Given the description of an element on the screen output the (x, y) to click on. 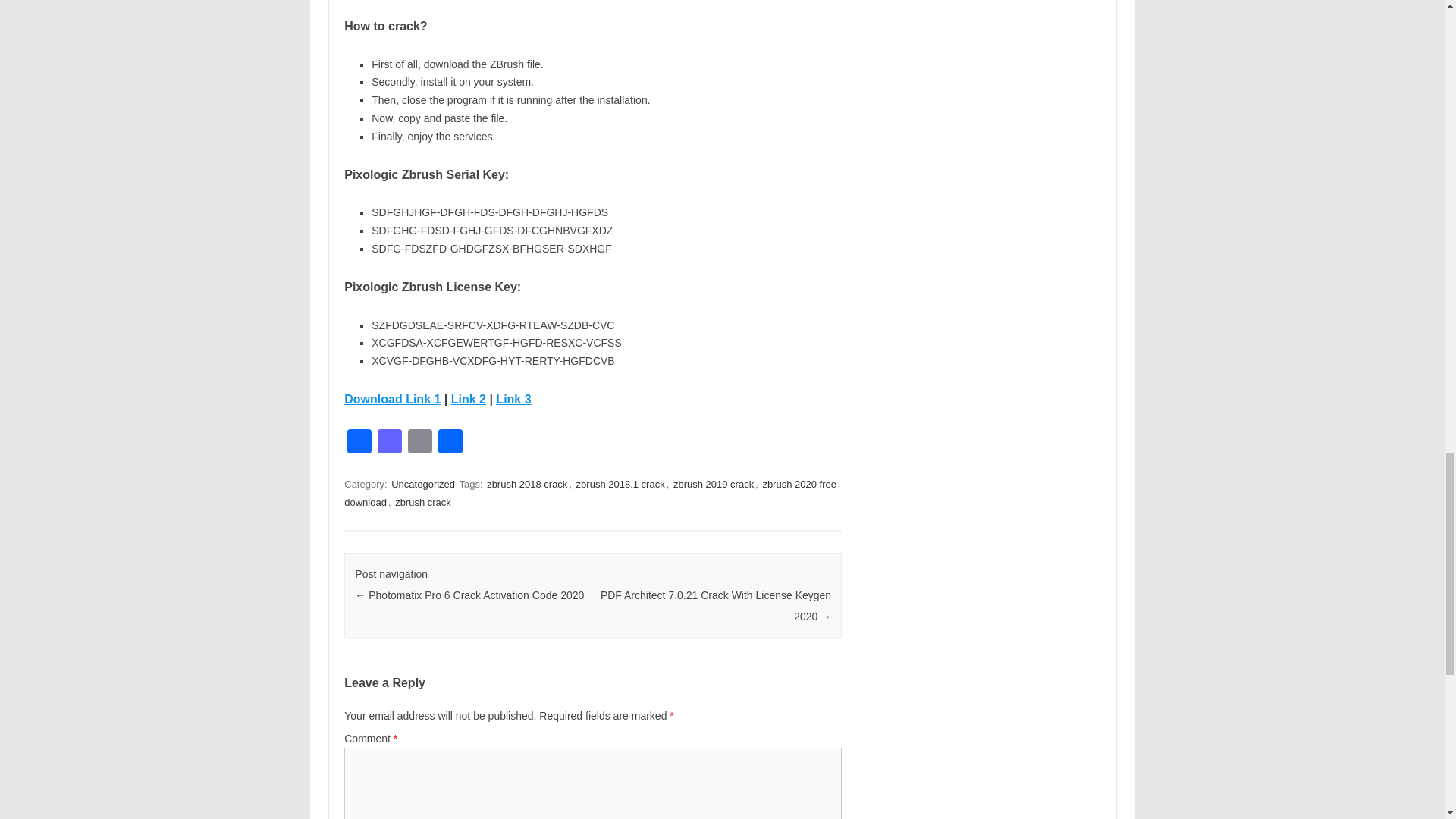
zbrush 2018.1 crack (620, 483)
Download Link 1 (392, 399)
Link 2 (468, 399)
zbrush 2020 free download (589, 492)
Email (419, 443)
Mastodon (389, 443)
zbrush crack (422, 502)
Uncategorized (423, 483)
Email (419, 443)
Facebook (358, 443)
